Given the description of an element on the screen output the (x, y) to click on. 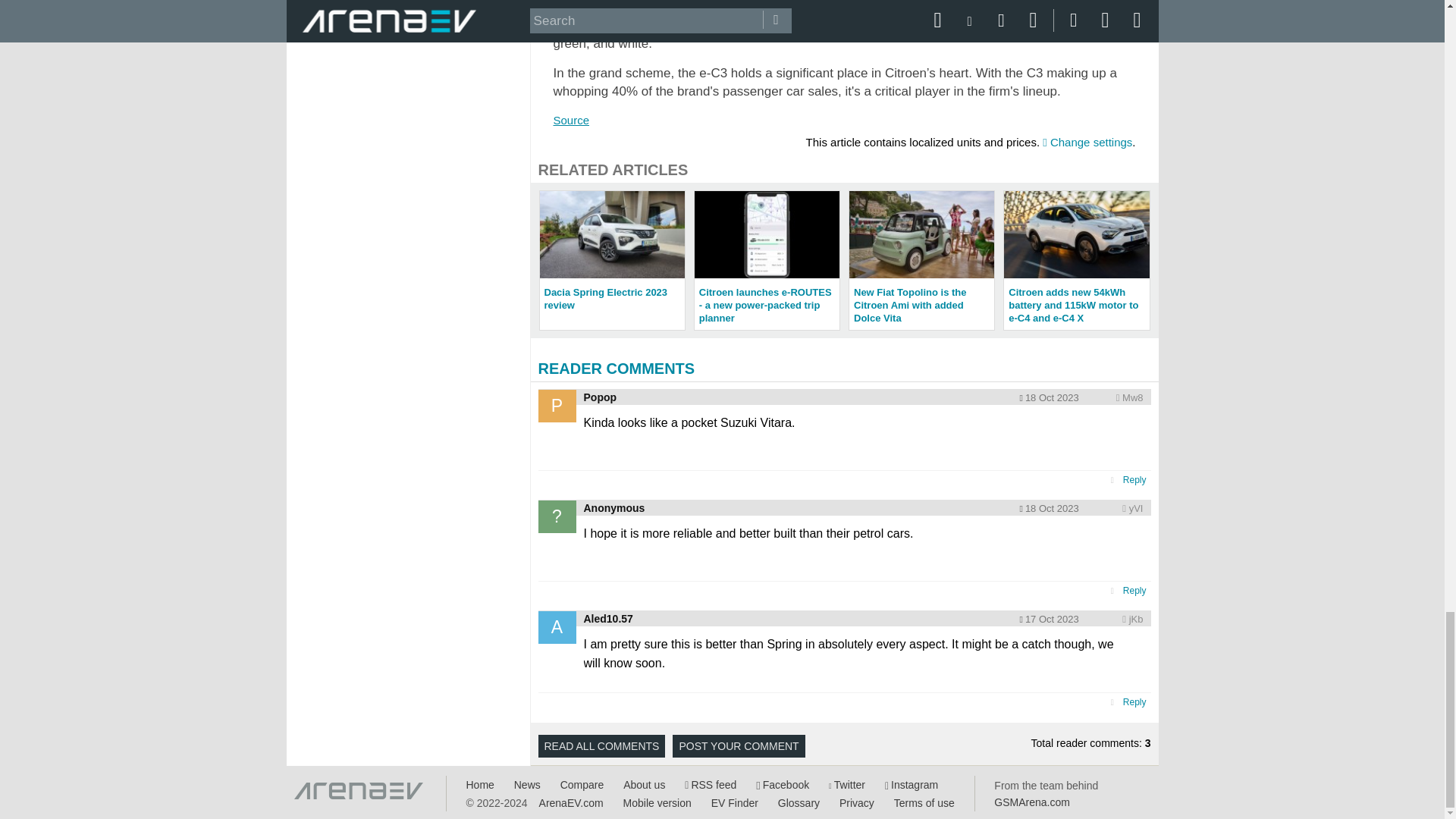
Encoded anonymized location (1135, 508)
Change settings (1087, 141)
Reply (1134, 480)
New Fiat Topolino is the Citroen Ami with added Dolce Vita (921, 260)
Encoded anonymized location (1135, 618)
Citroen launches e-ROUTES - a new power-packed trip planner (767, 260)
Reply (1134, 590)
READ ALL COMMENTS (601, 745)
Encoded anonymized location (1132, 397)
